Given the description of an element on the screen output the (x, y) to click on. 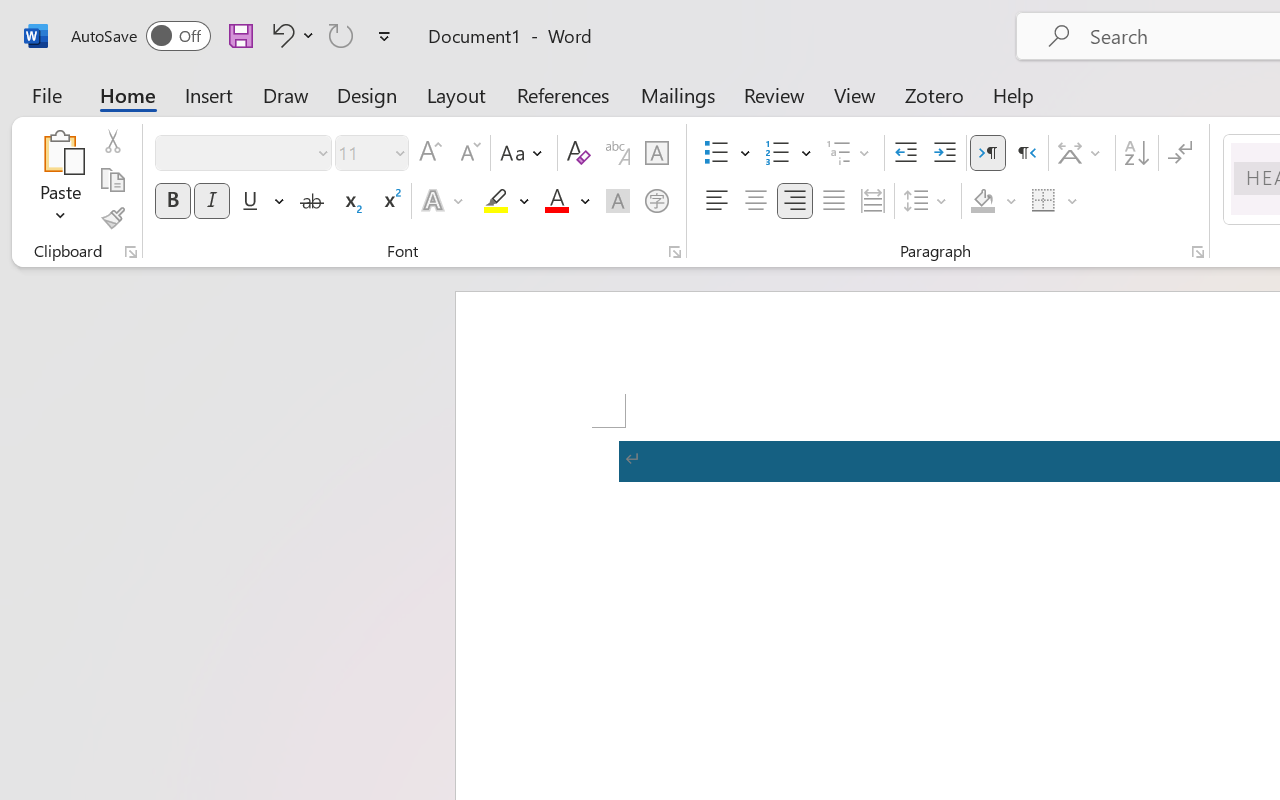
Left-to-Right (988, 153)
